Given the description of an element on the screen output the (x, y) to click on. 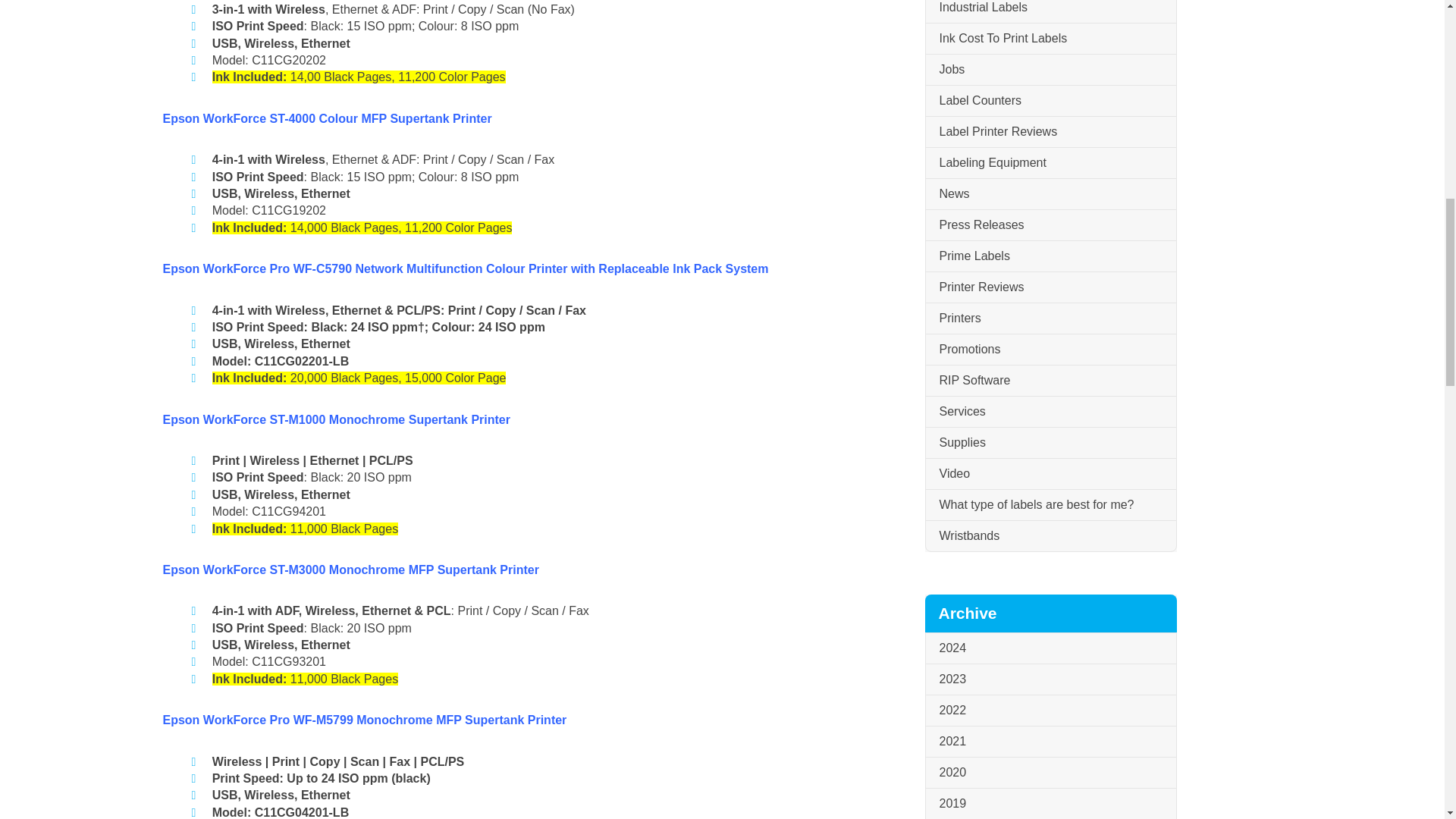
Jobs (1049, 69)
Label Printer Reviews (1049, 132)
Industrial Labels (1049, 11)
Ink Cost To Print Labels (1049, 38)
Label Counters (1049, 101)
